Given the description of an element on the screen output the (x, y) to click on. 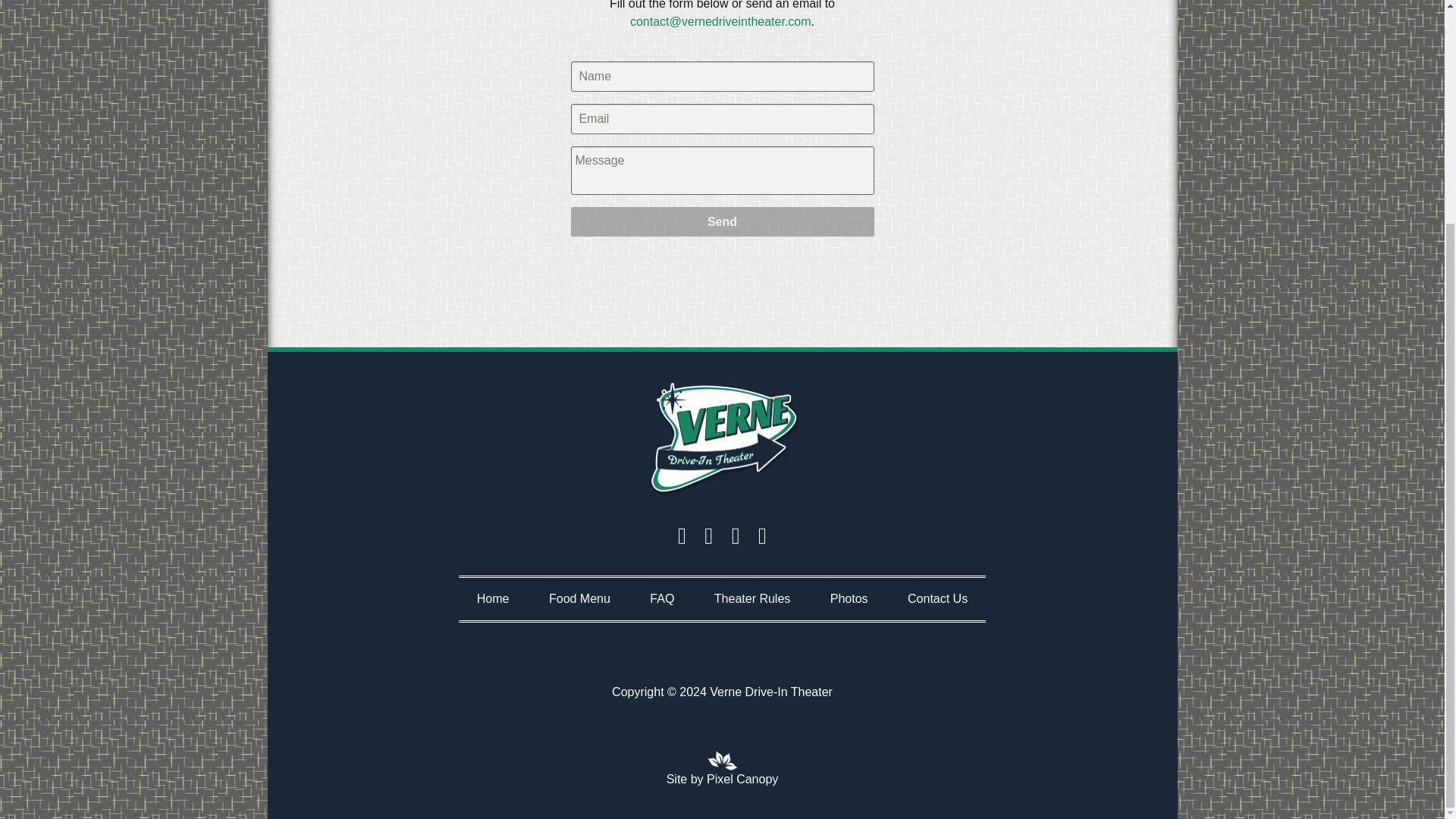
Site by Pixel Canopy (722, 779)
Food Menu (580, 598)
Home (492, 598)
Theater Rules (752, 598)
Send (721, 221)
FAQ (661, 598)
Contact Us (937, 598)
Send (721, 221)
Photos (849, 598)
